Given the description of an element on the screen output the (x, y) to click on. 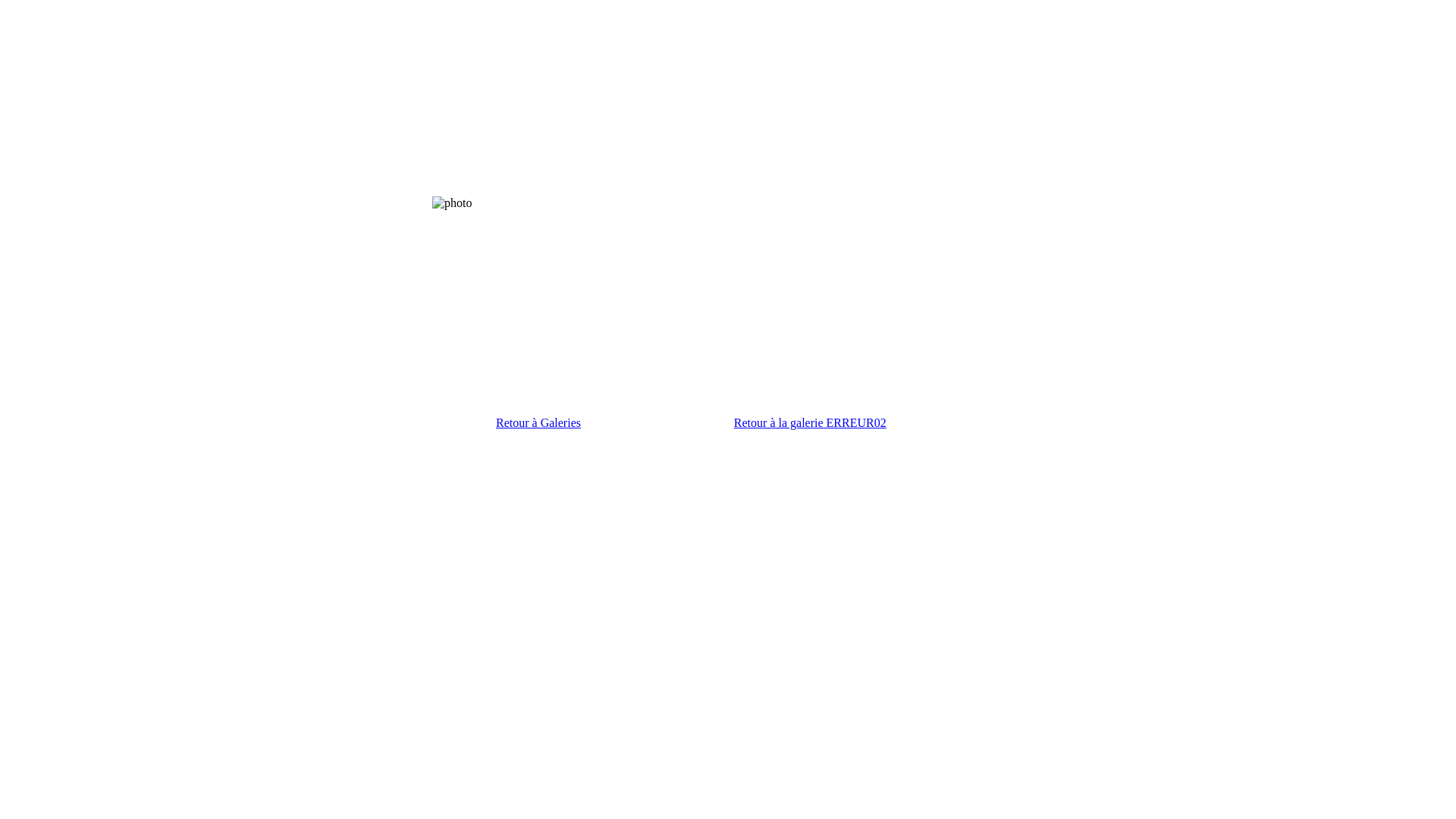
Photo suivante Element type: hover (1064, 202)
